Given the description of an element on the screen output the (x, y) to click on. 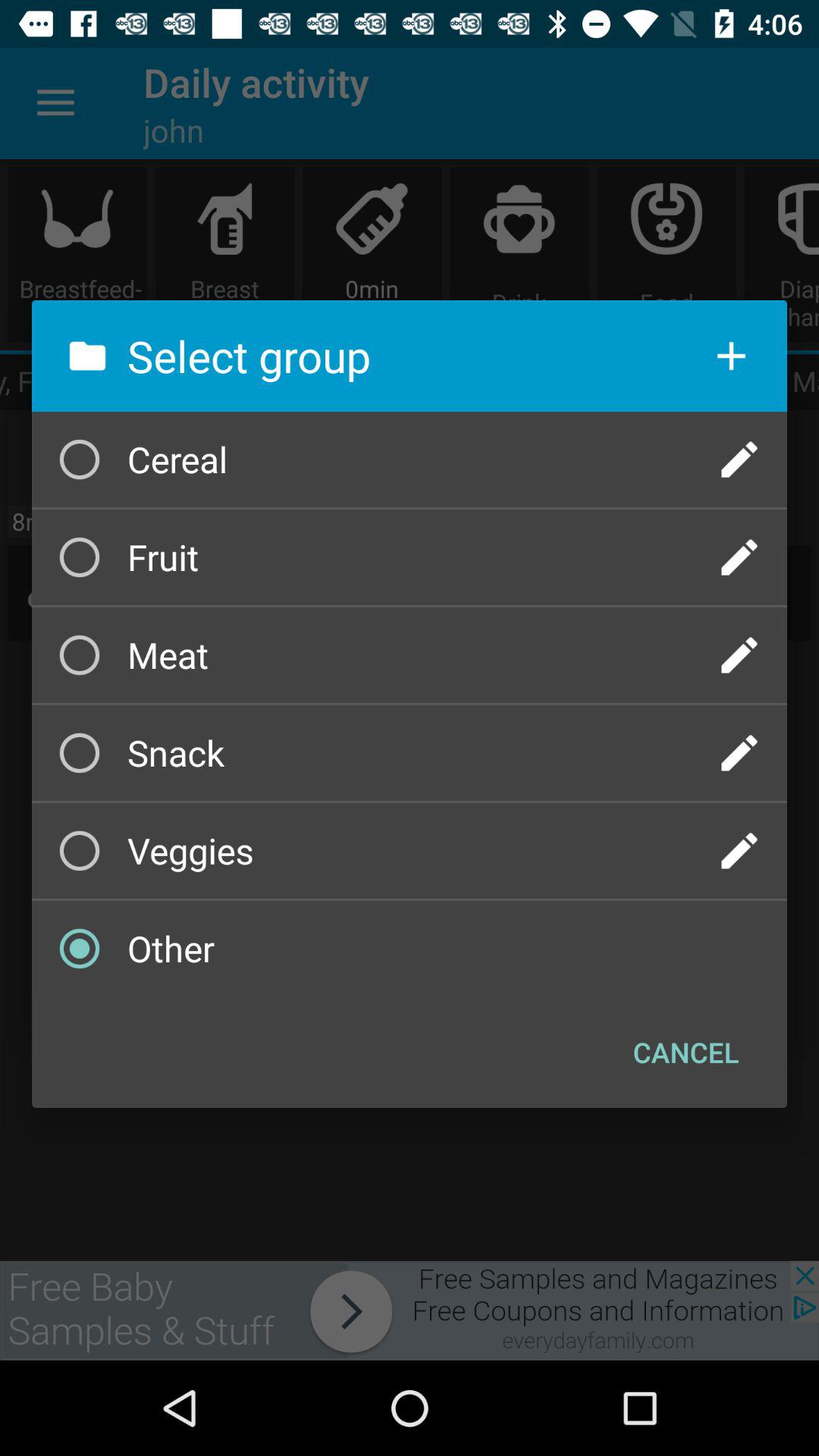
edit the option (739, 459)
